Given the description of an element on the screen output the (x, y) to click on. 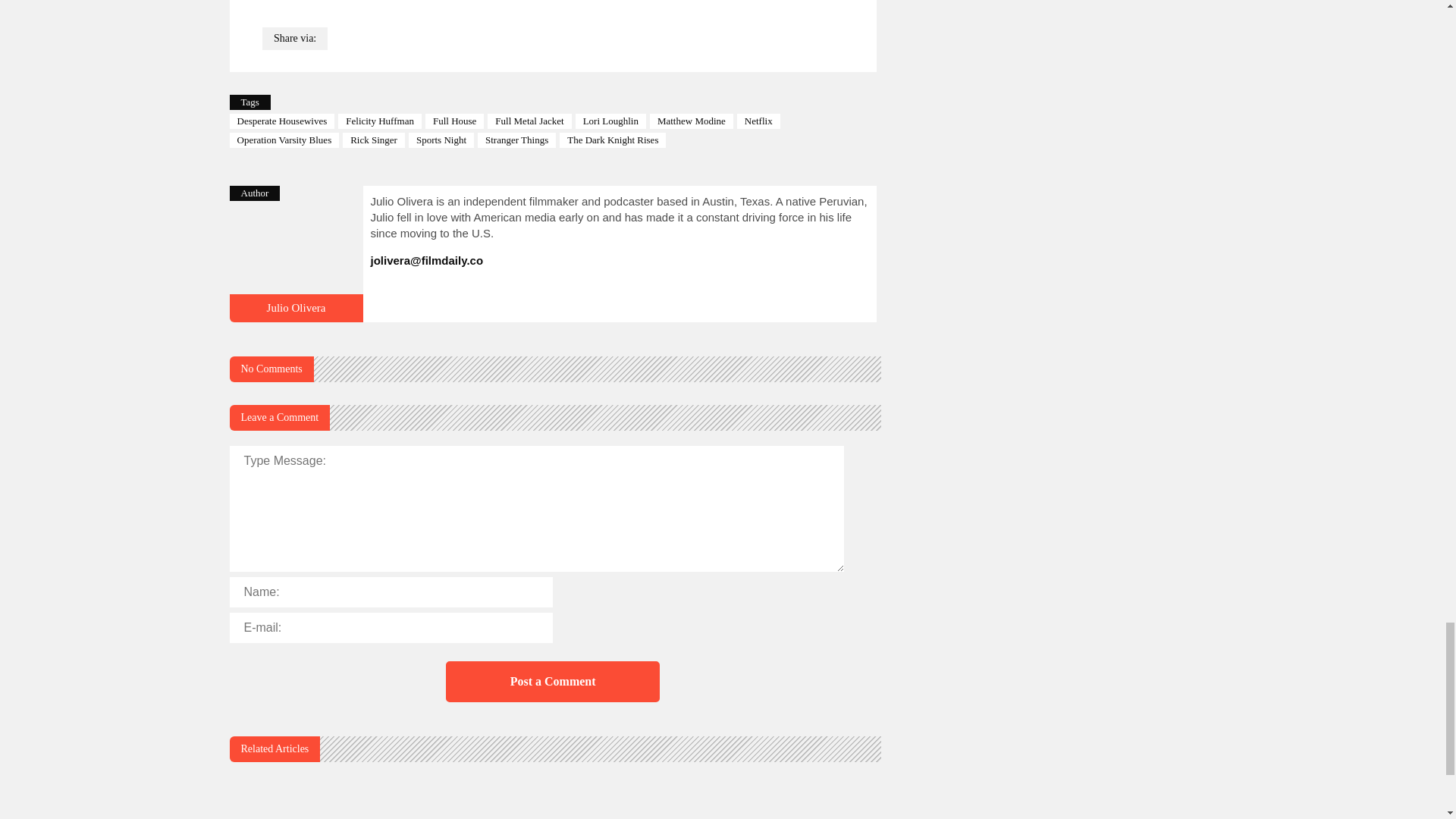
Post a Comment (552, 680)
